Given the description of an element on the screen output the (x, y) to click on. 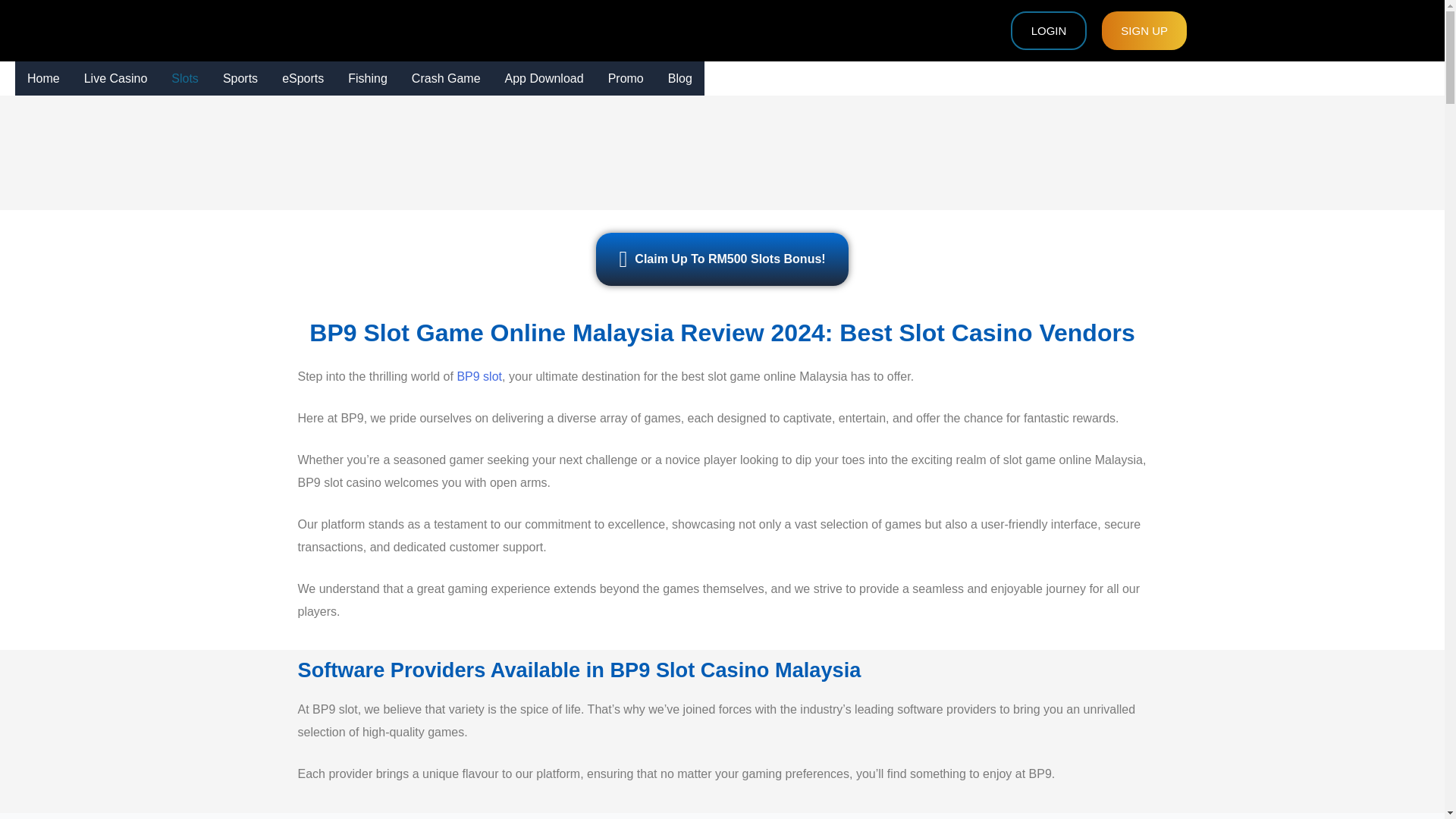
Slots (184, 78)
Promo (625, 78)
Live Casino (115, 78)
Home (42, 78)
SIGN UP (1144, 30)
Blog (680, 78)
eSports (302, 78)
LOGIN (1048, 30)
App Download (544, 78)
Sports (240, 78)
